Given the description of an element on the screen output the (x, y) to click on. 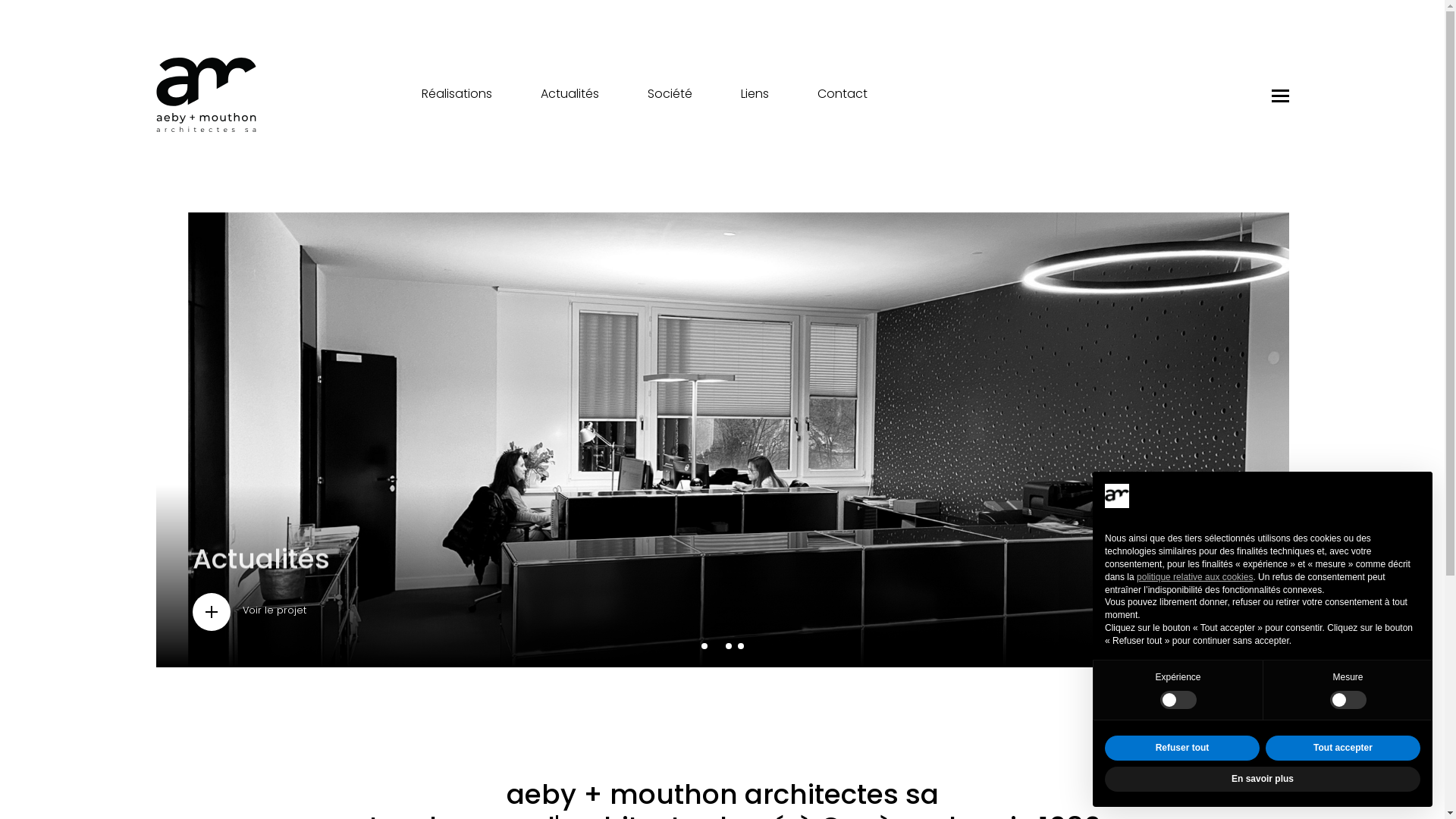
open offcanvas Element type: hover (1279, 94)
Liens Element type: text (754, 94)
Contact Element type: text (842, 94)
Tout accepter Element type: text (1342, 747)
politique relative aux cookies Element type: text (1194, 576)
En savoir plus Element type: text (1262, 778)
Voir le projet Element type: text (260, 611)
Refuser tout Element type: text (1181, 747)
2 Element type: text (719, 651)
logo and link to home page Element type: hover (206, 94)
